Given the description of an element on the screen output the (x, y) to click on. 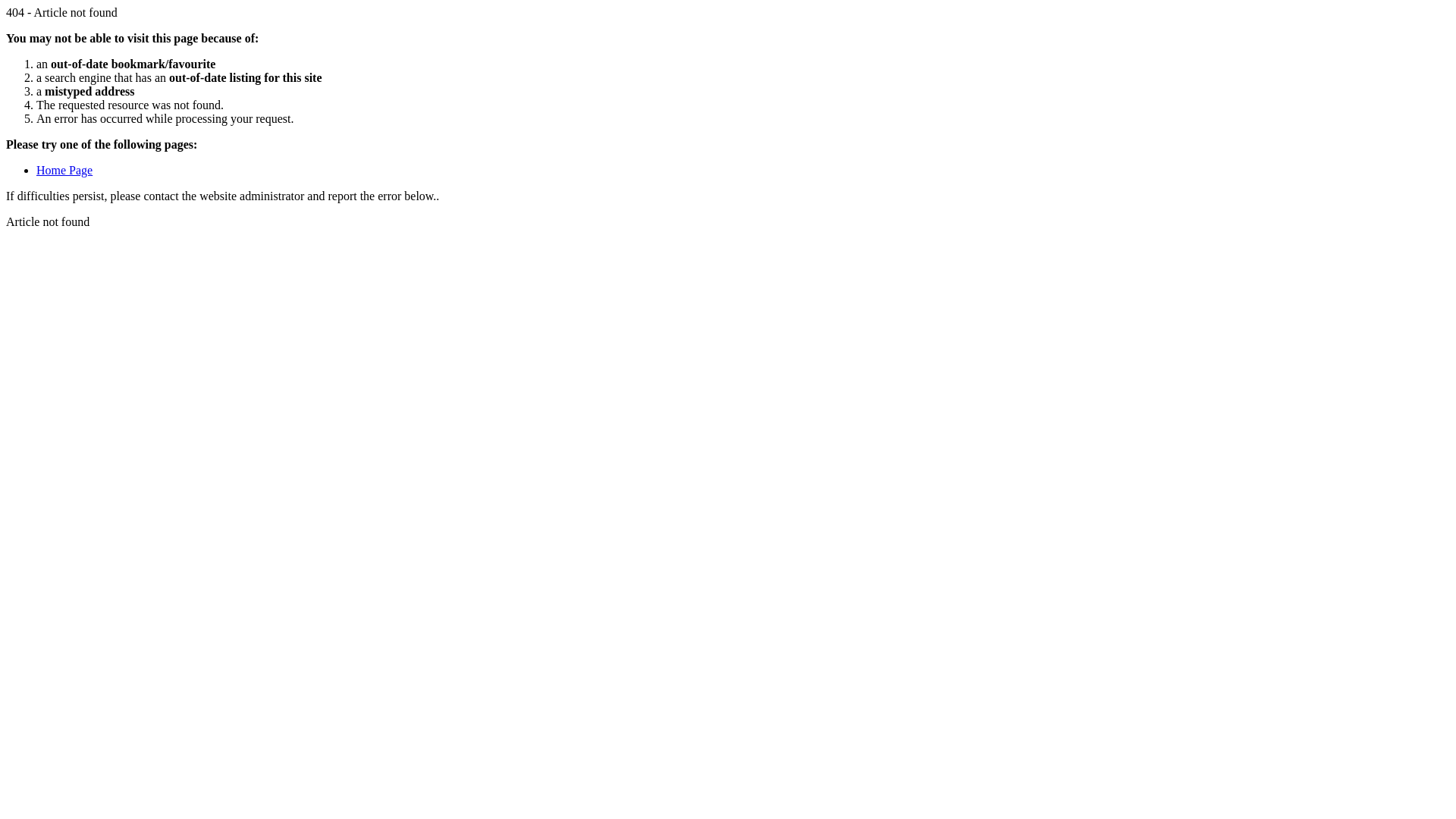
Home Page Element type: text (64, 169)
